Given the description of an element on the screen output the (x, y) to click on. 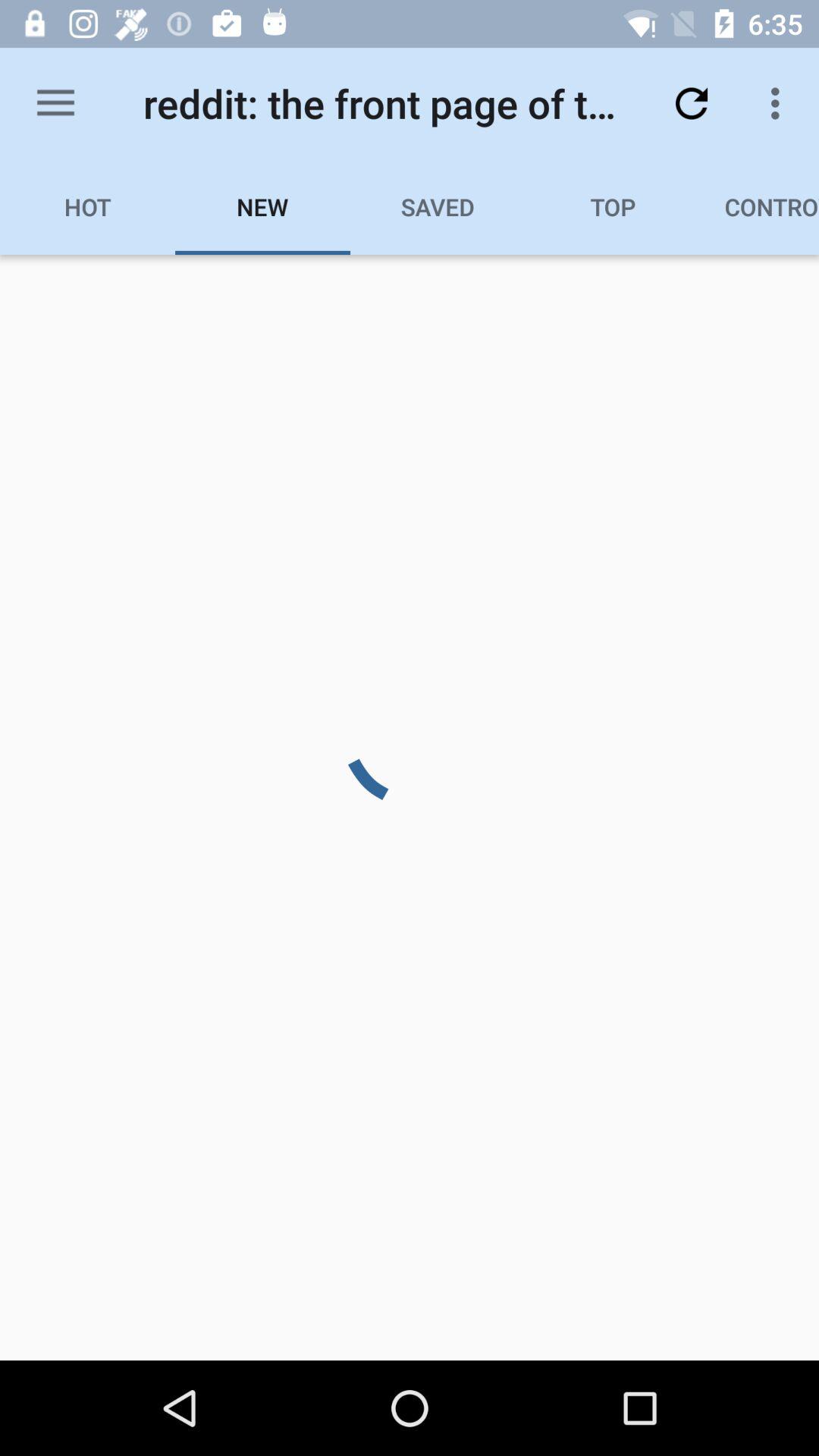
turn on the item next to reddit the front (55, 103)
